Given the description of an element on the screen output the (x, y) to click on. 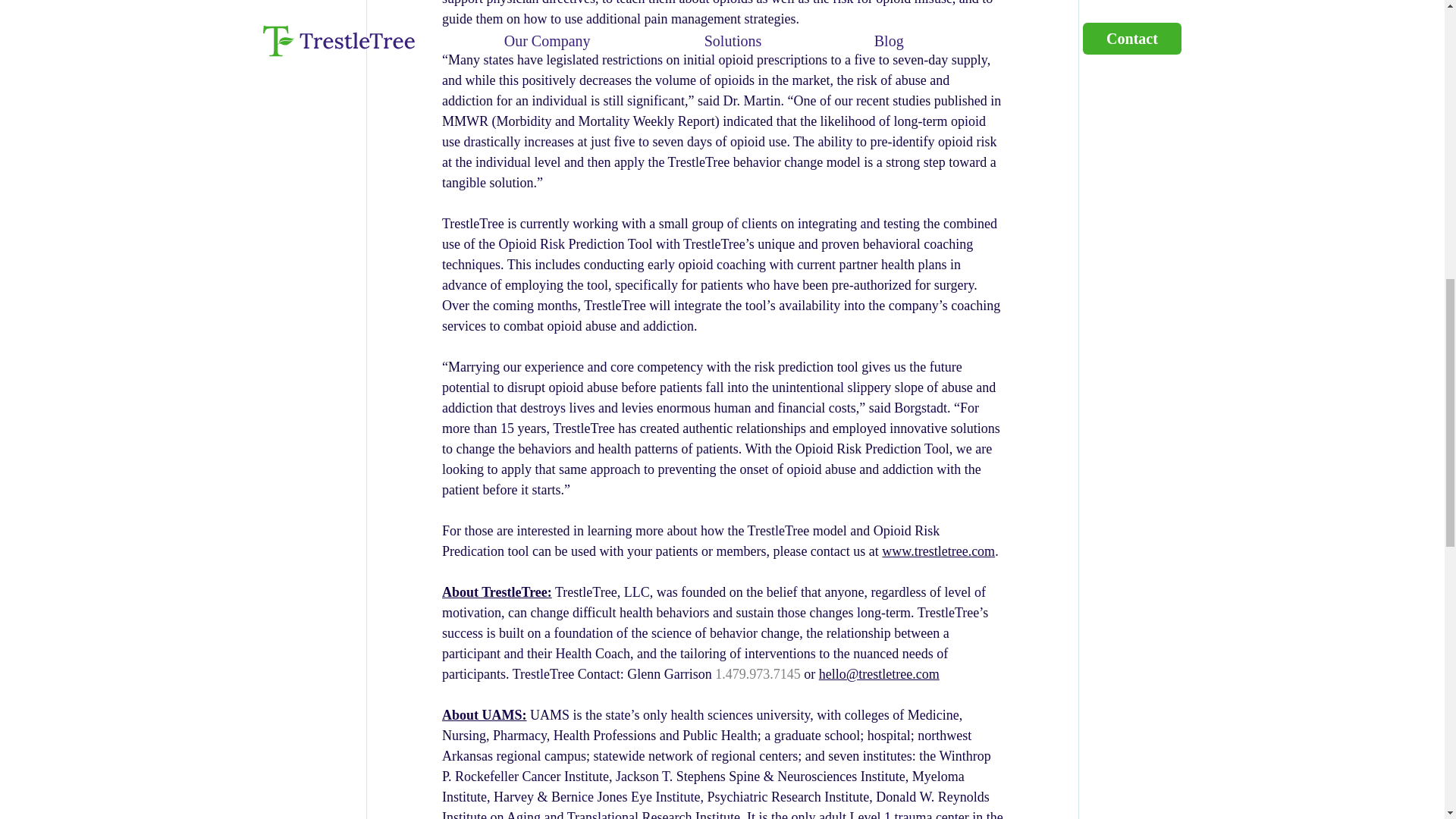
www.trestletree.com (938, 550)
